Given the description of an element on the screen output the (x, y) to click on. 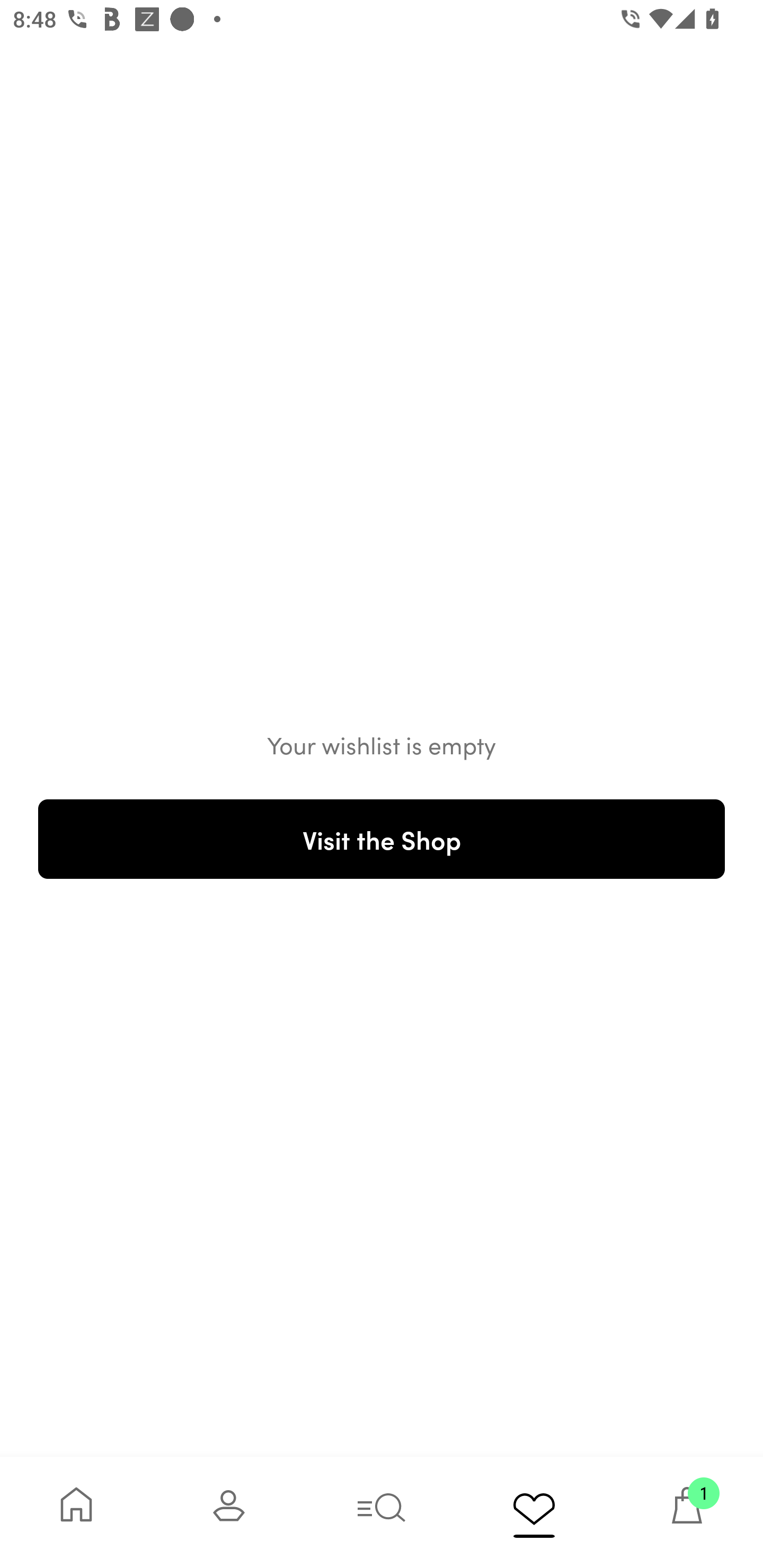
Visit the Shop (381, 838)
1 (686, 1512)
